Given the description of an element on the screen output the (x, y) to click on. 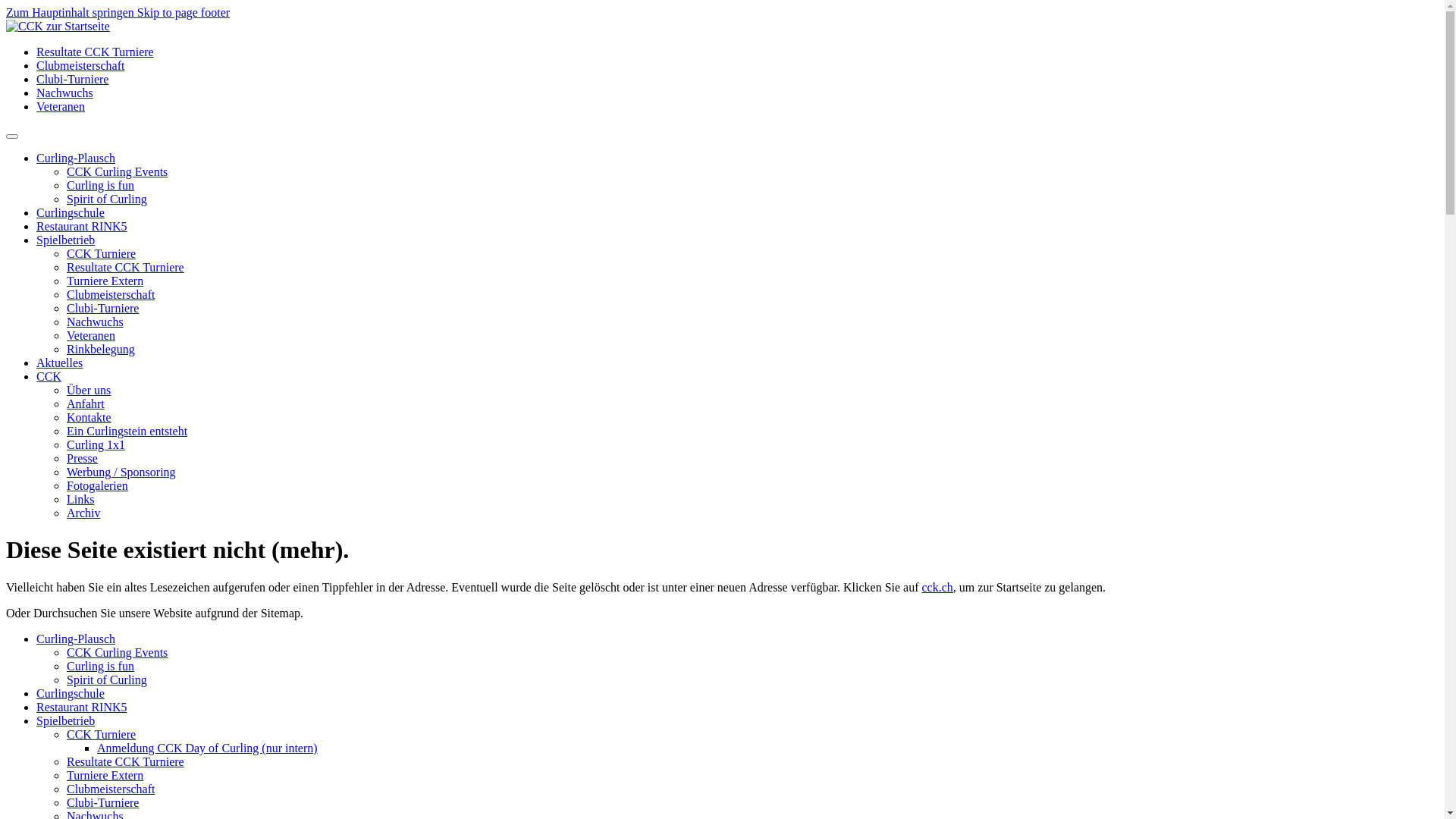
Curlingschule Element type: text (70, 693)
Curling-Plausch Element type: text (75, 157)
Turniere Extern Element type: text (104, 774)
Resultate CCK Turniere Element type: text (125, 266)
Werbung / Sponsoring Element type: text (120, 471)
Clubmeisterschaft Element type: text (80, 65)
CCK Turniere Element type: text (100, 253)
Archiv Element type: text (83, 512)
Aktuelles Element type: text (59, 362)
Spirit of Curling Element type: text (106, 198)
Kontakte Element type: text (88, 417)
Curling is fun Element type: text (100, 665)
Ein Curlingstein entsteht Element type: text (126, 430)
Turniere Extern Element type: text (104, 280)
Clubmeisterschaft Element type: text (110, 788)
cck.ch Element type: text (937, 586)
CCK Turniere Element type: text (100, 734)
Resultate CCK Turniere Element type: text (125, 761)
Restaurant RINK5 Element type: text (81, 706)
Anfahrt Element type: text (85, 403)
Curlingschule Element type: text (70, 212)
Resultate CCK Turniere Element type: text (94, 51)
Veteranen Element type: text (60, 106)
Spielbetrieb Element type: text (65, 720)
Veteranen Element type: text (90, 335)
Zum Hauptinhalt springen Element type: text (71, 12)
Restaurant RINK5 Element type: text (81, 225)
CCK Curling Events Element type: text (116, 652)
Clubi-Turniere Element type: text (102, 802)
Curling 1x1 Element type: text (95, 444)
Fotogalerien Element type: text (97, 485)
Anmeldung CCK Day of Curling (nur intern) Element type: text (207, 747)
Links Element type: text (80, 498)
Clubi-Turniere Element type: text (102, 307)
CCK Element type: text (48, 376)
Nachwuchs Element type: text (94, 321)
Clubmeisterschaft Element type: text (110, 294)
Nachwuchs Element type: text (64, 92)
Curling is fun Element type: text (100, 184)
Curling-Plausch Element type: text (75, 638)
Spielbetrieb Element type: text (65, 239)
Clubi-Turniere Element type: text (72, 78)
Spirit of Curling Element type: text (106, 679)
Skip to page footer Element type: text (183, 12)
CCK Curling Events Element type: text (116, 171)
Presse Element type: text (81, 457)
Rinkbelegung Element type: text (100, 348)
